Given the description of an element on the screen output the (x, y) to click on. 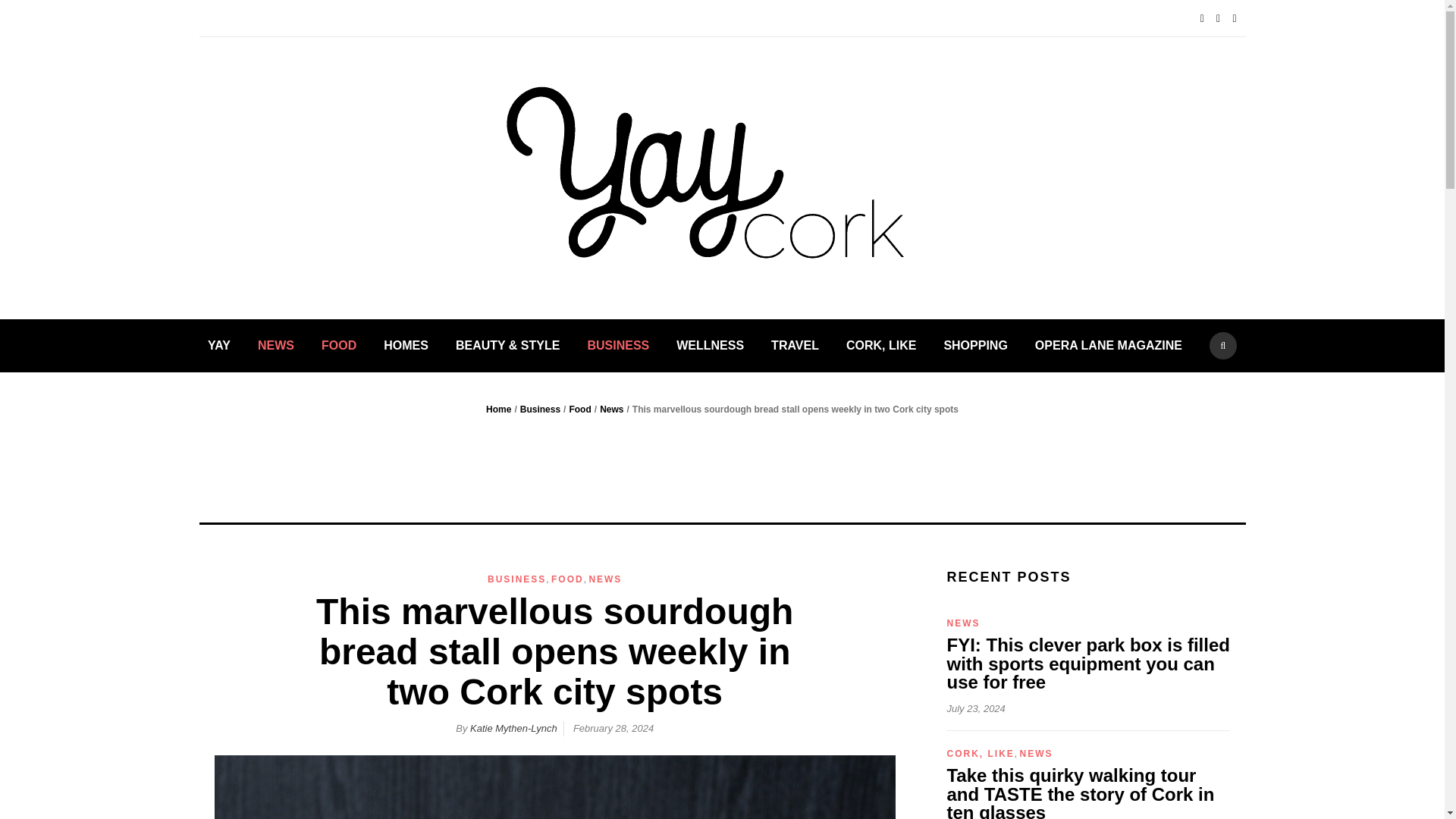
TRAVEL (794, 345)
Business (539, 409)
OPERA LANE MAGAZINE (1108, 345)
BUSINESS (617, 345)
BUSINESS (516, 579)
WELLNESS (710, 345)
Home (498, 409)
YAY CORK (998, 200)
Food (580, 409)
SHOPPING (975, 345)
News (611, 409)
View all posts by Katie Mythen-Lynch (513, 727)
CORK, LIKE (880, 345)
